Given the description of an element on the screen output the (x, y) to click on. 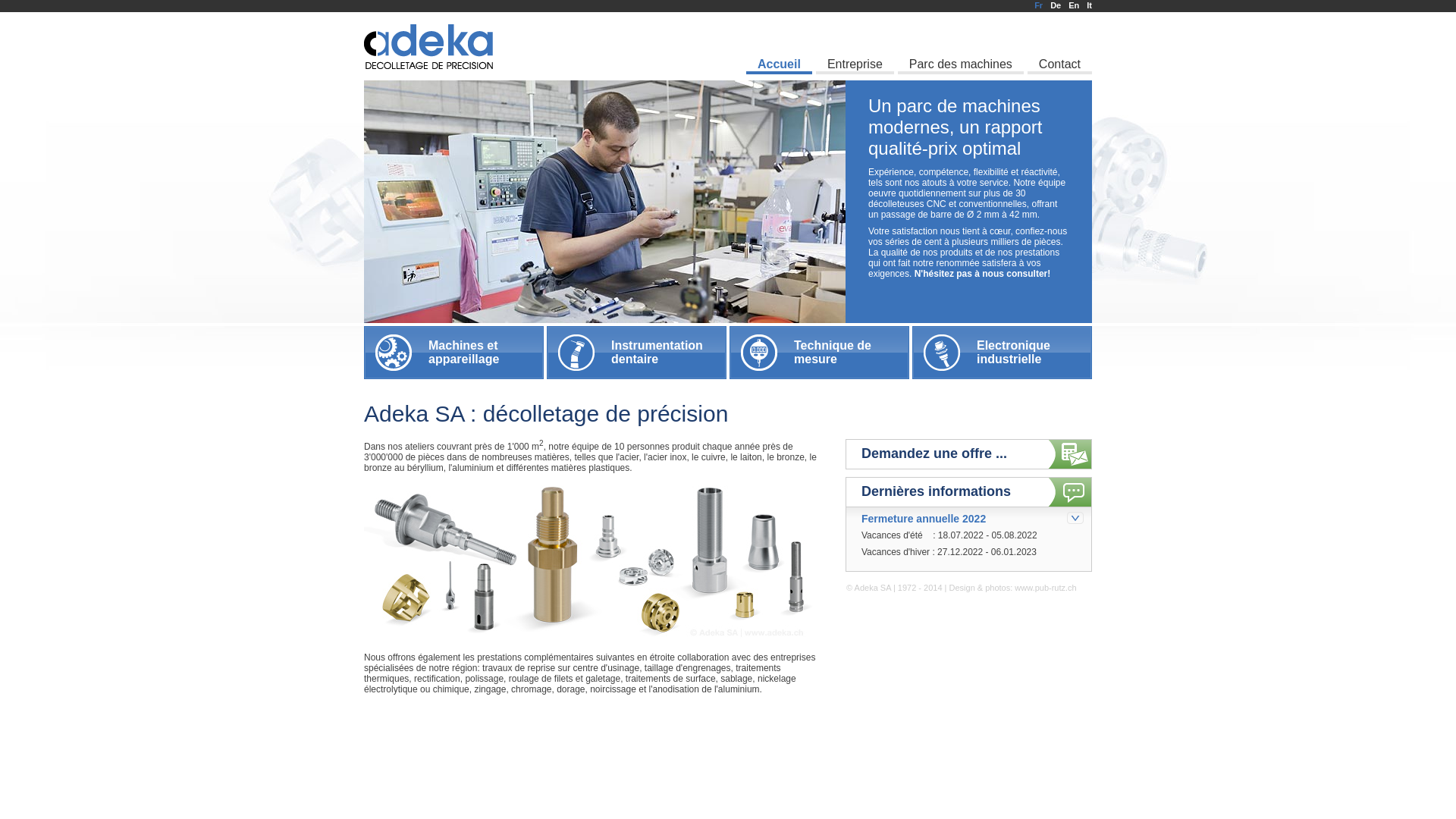
Instrumentation dentaire Element type: text (636, 352)
Parc des machines Element type: text (960, 43)
Fr Element type: text (1038, 4)
Electronique industrielle Element type: text (1002, 352)
Contact Element type: text (1059, 43)
De Element type: text (1055, 4)
Machines et appareillage Element type: text (453, 352)
It Element type: text (1089, 4)
Accueil Element type: text (779, 43)
En Element type: text (1073, 4)
Entreprise Element type: text (854, 43)
Technique de mesure Element type: text (819, 352)
Demandez une offre ... Element type: text (968, 450)
www.pub-rutz.ch Element type: text (1045, 587)
